Given the description of an element on the screen output the (x, y) to click on. 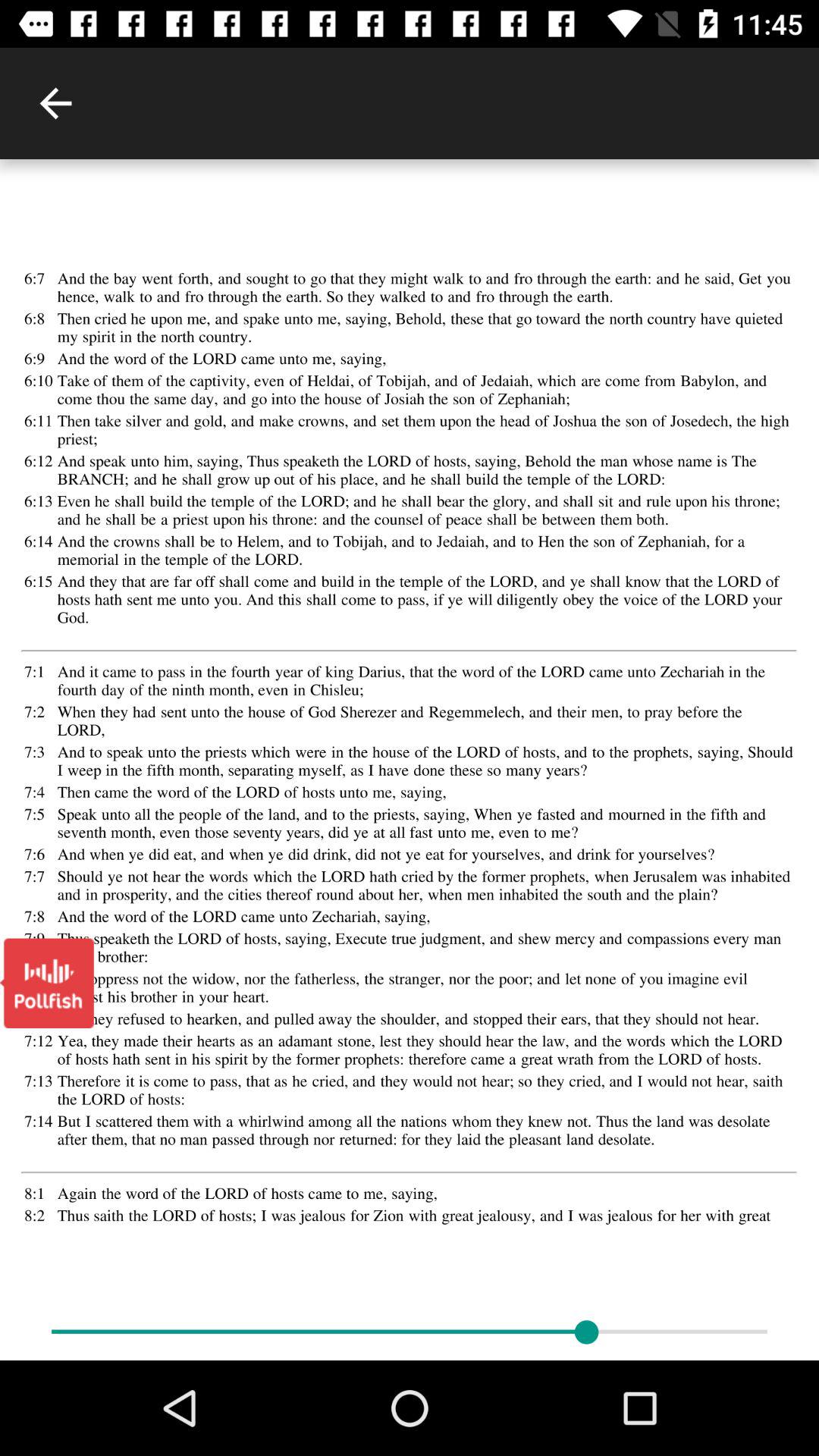
open icon at the bottom left corner (46, 983)
